Given the description of an element on the screen output the (x, y) to click on. 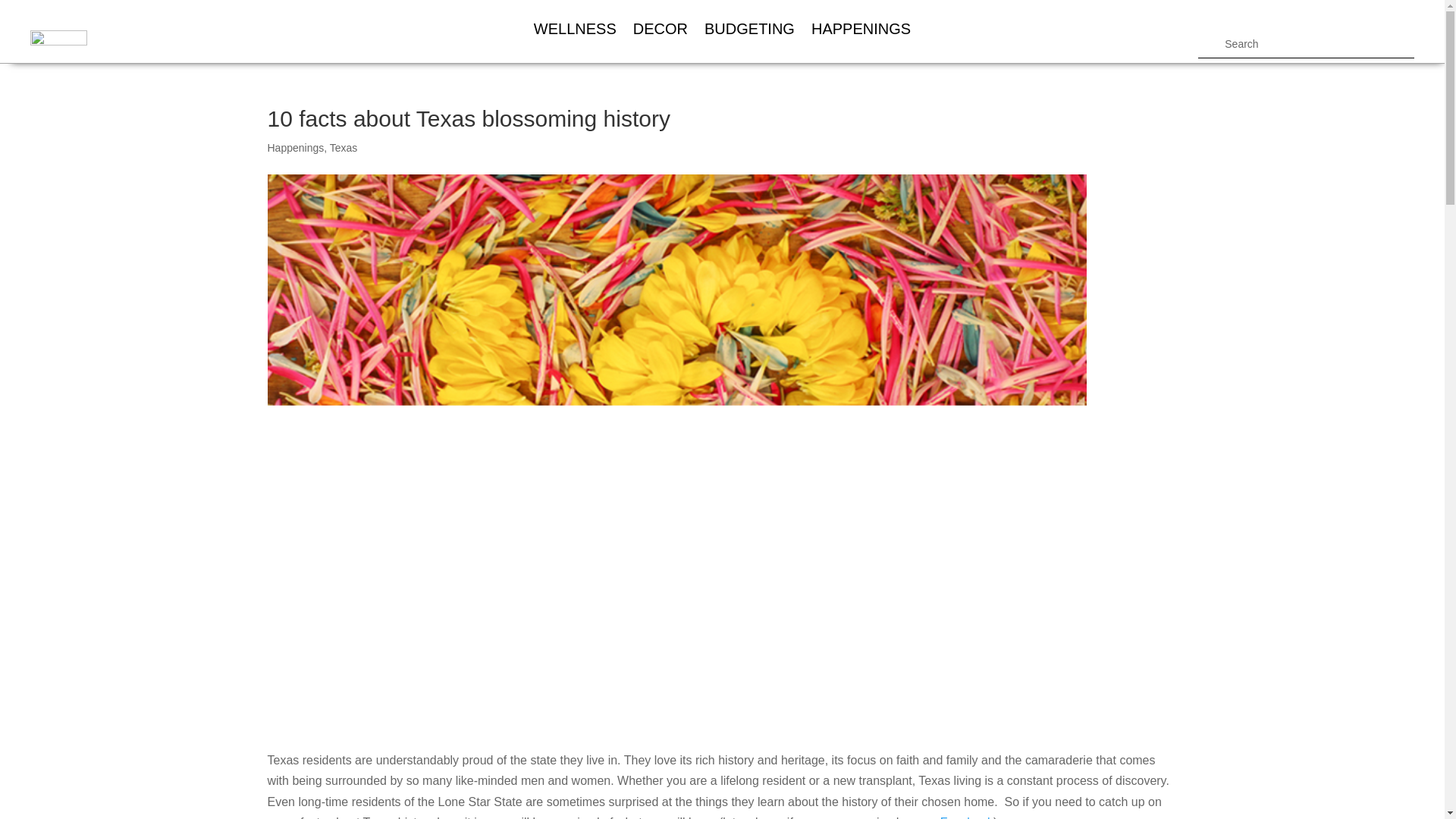
Happenings (294, 147)
DECOR (660, 28)
Texas (344, 147)
heb (58, 46)
WELLNESS (574, 28)
HAPPENINGS (860, 28)
BUDGETING (749, 28)
Search (24, 13)
Facebook (966, 817)
